Given the description of an element on the screen output the (x, y) to click on. 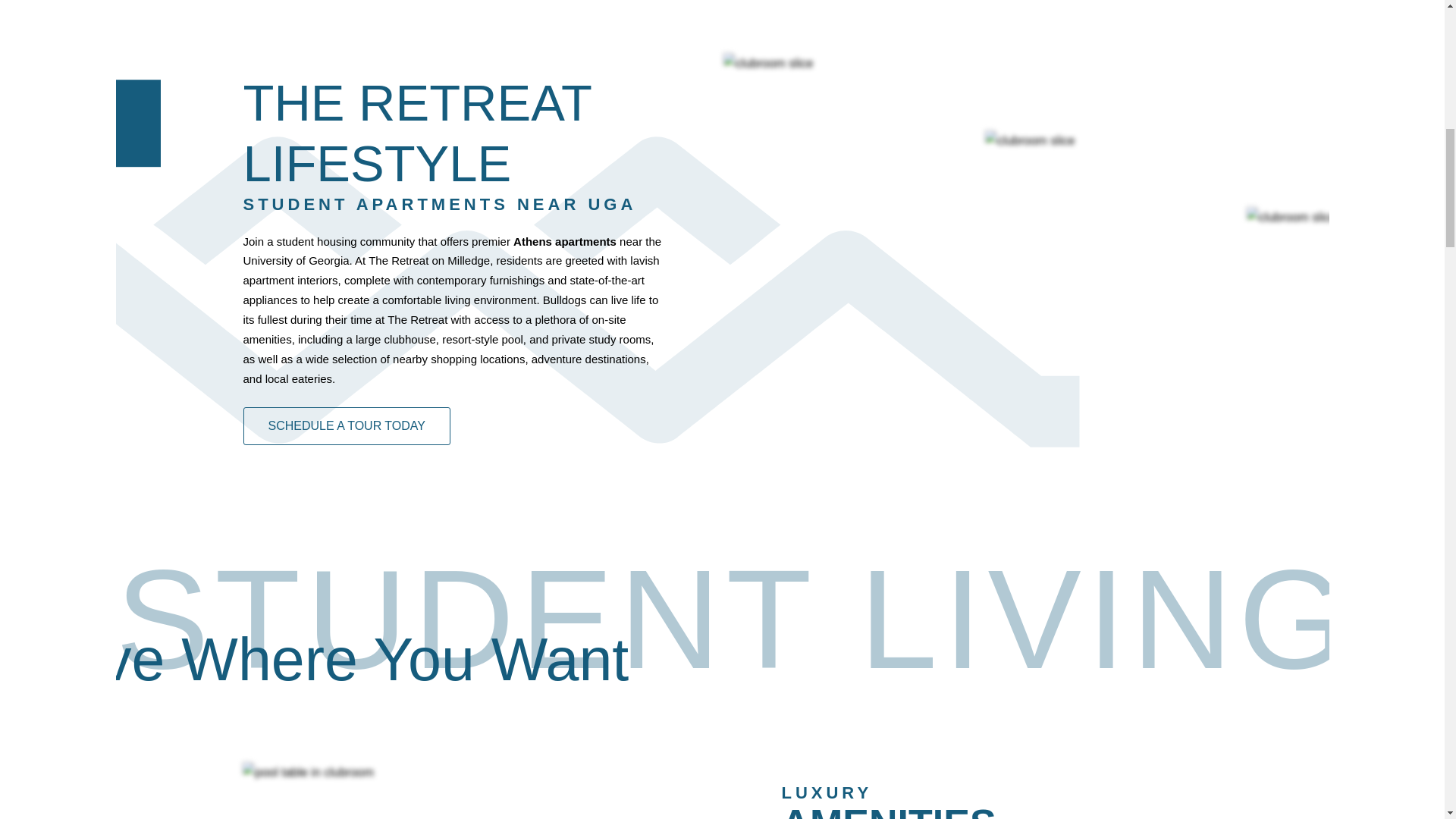
SCHEDULE A TOUR TODAY (346, 426)
